Given the description of an element on the screen output the (x, y) to click on. 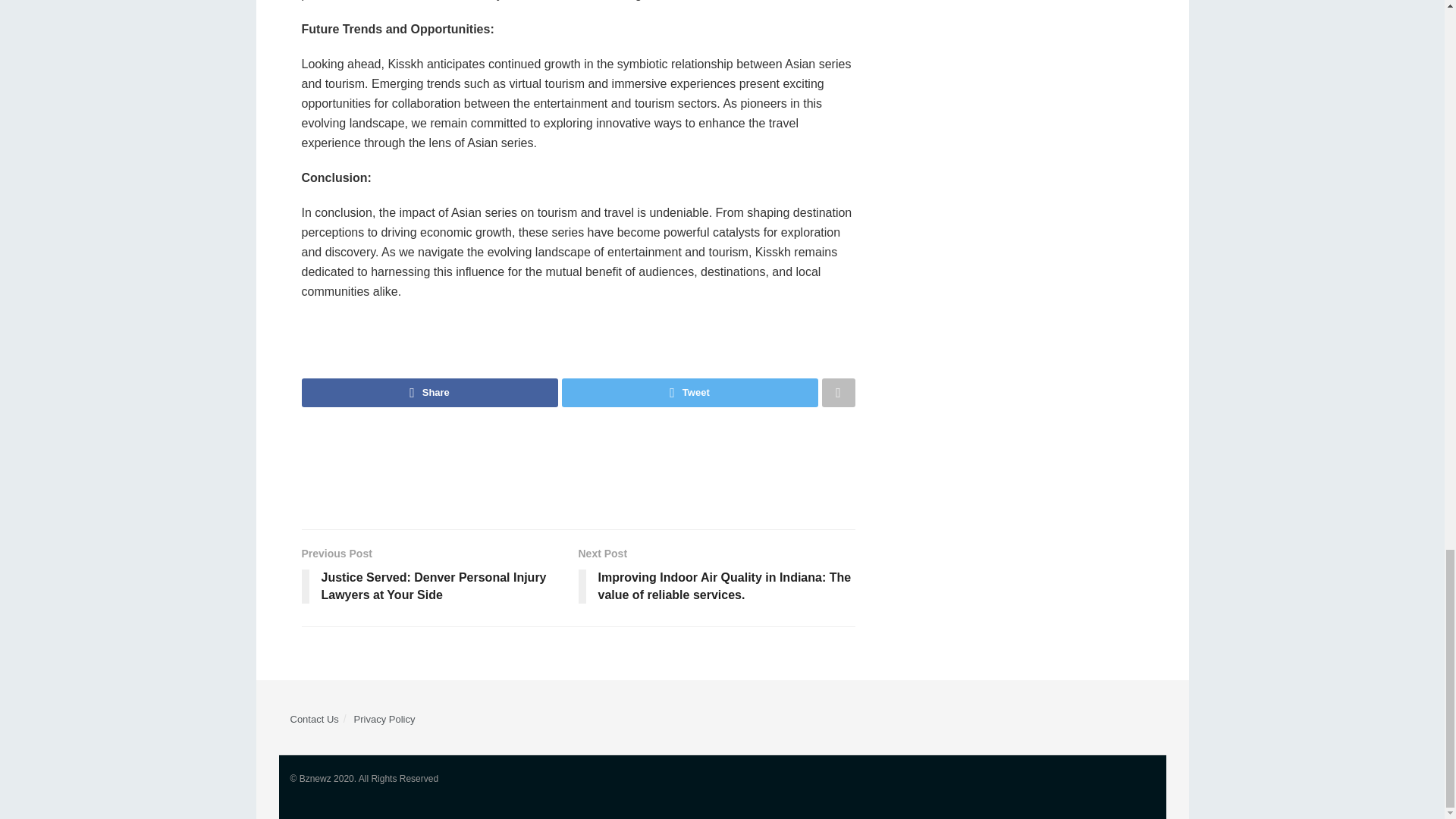
Advertisement (577, 468)
